Given the description of an element on the screen output the (x, y) to click on. 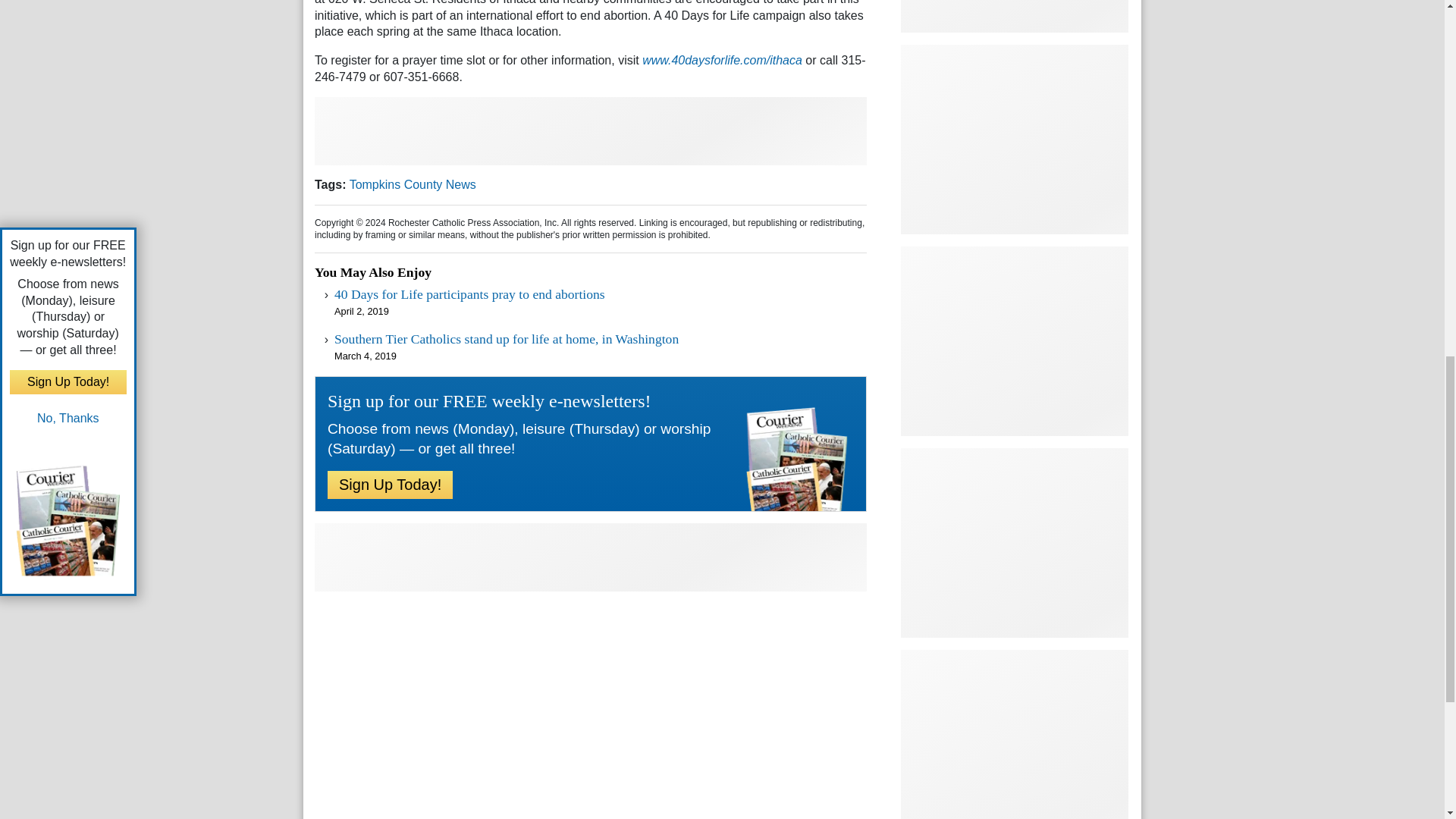
40 Days for Life participants pray to end abortions (469, 294)
